Given the description of an element on the screen output the (x, y) to click on. 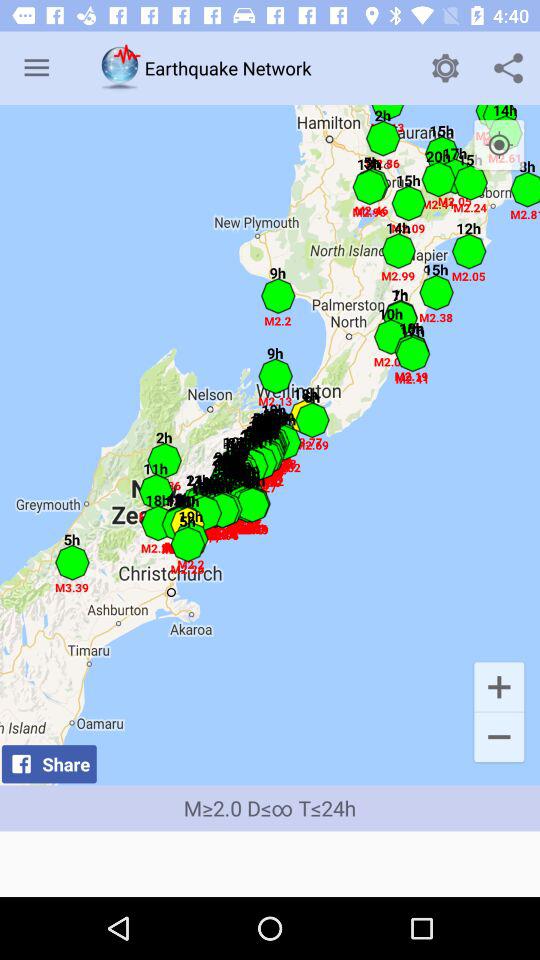
turn off item next to earthquake network icon (444, 67)
